Given the description of an element on the screen output the (x, y) to click on. 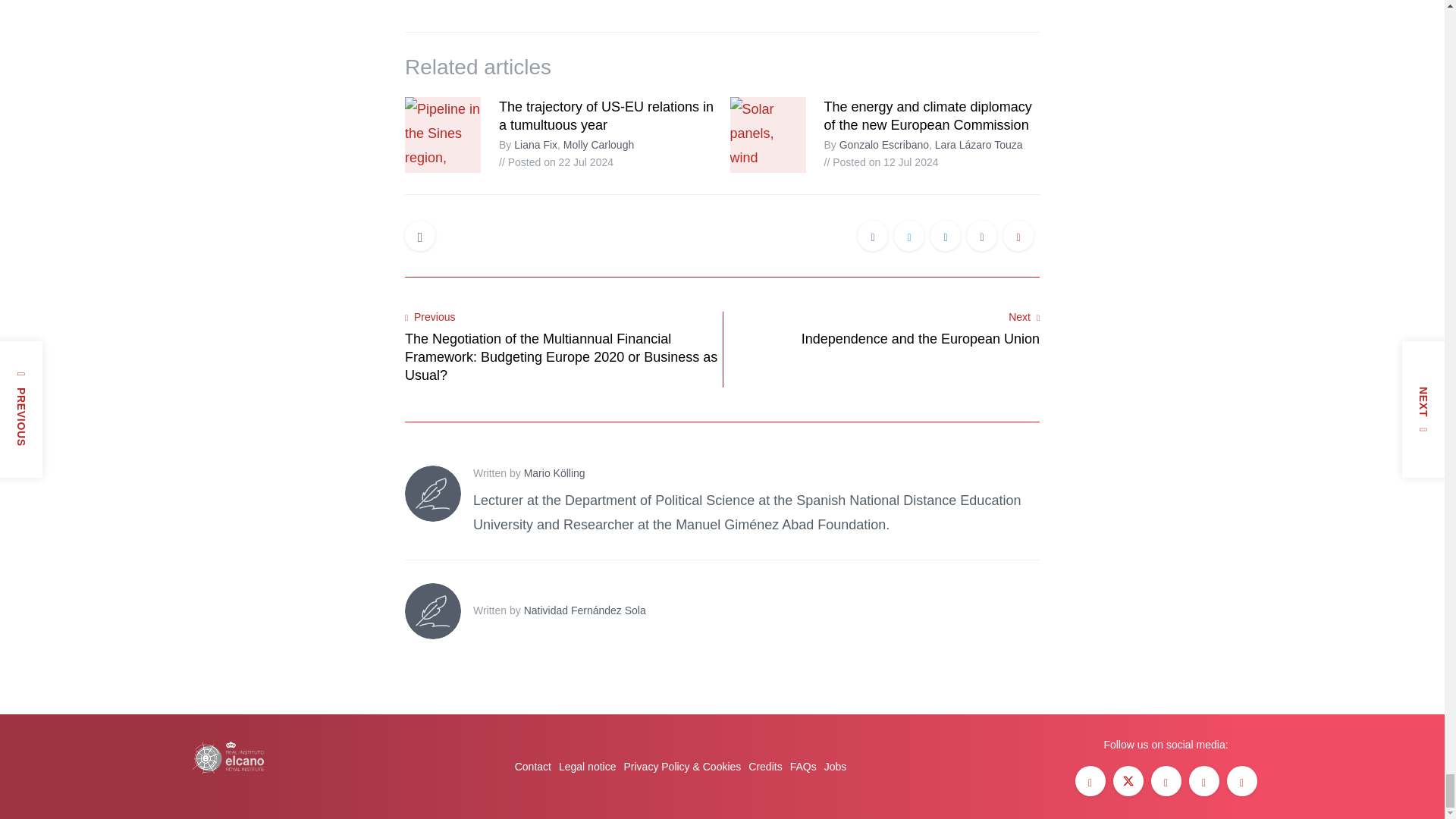
Posted on 22 Jul 2024 (555, 162)
Posted on 12 Jul 2024 (880, 162)
Copy Link (1018, 236)
